Given the description of an element on the screen output the (x, y) to click on. 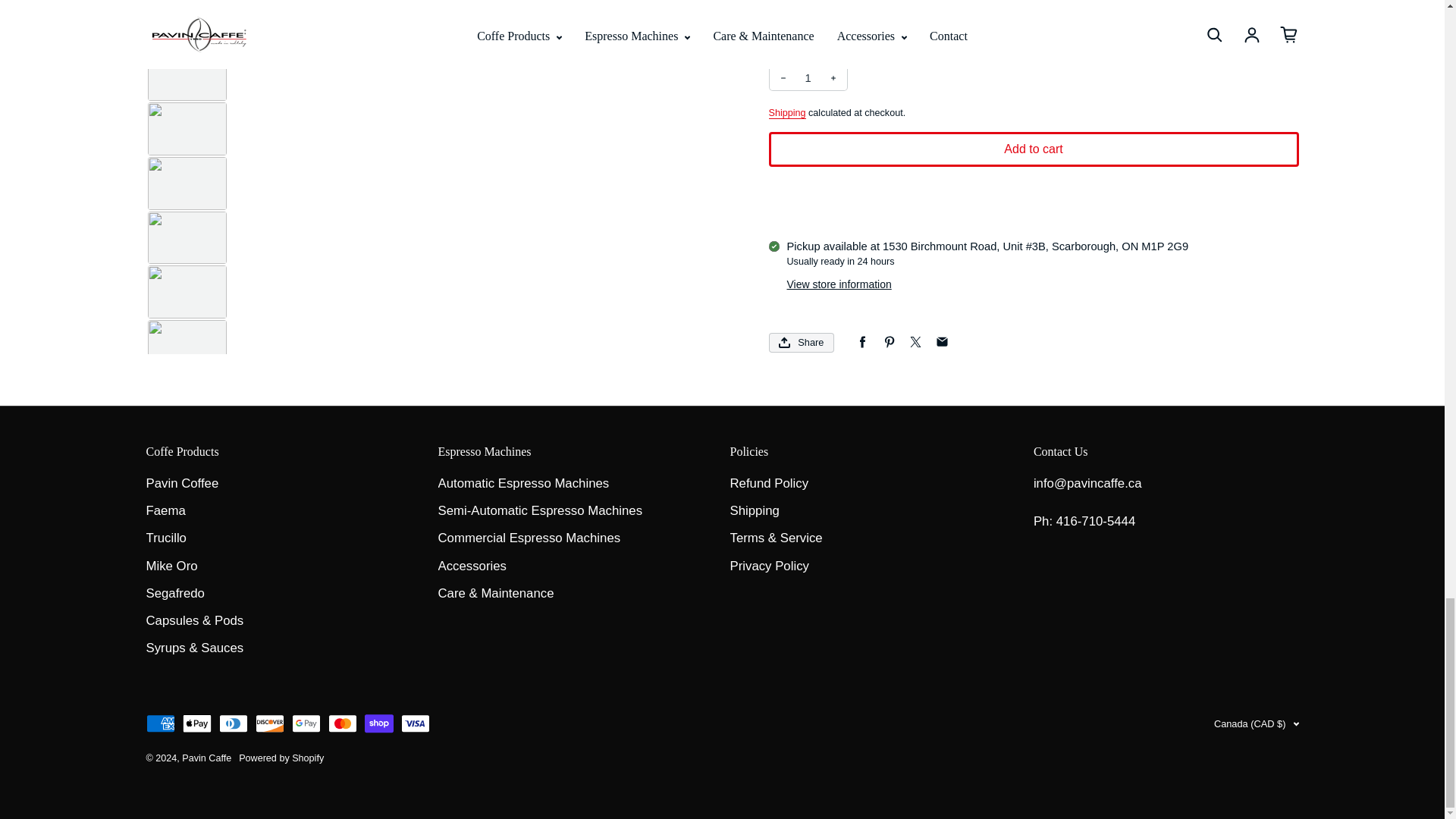
Google Pay (305, 723)
American Express (159, 723)
Diners Club (232, 723)
Discover (268, 723)
Apple Pay (196, 723)
